Given the description of an element on the screen output the (x, y) to click on. 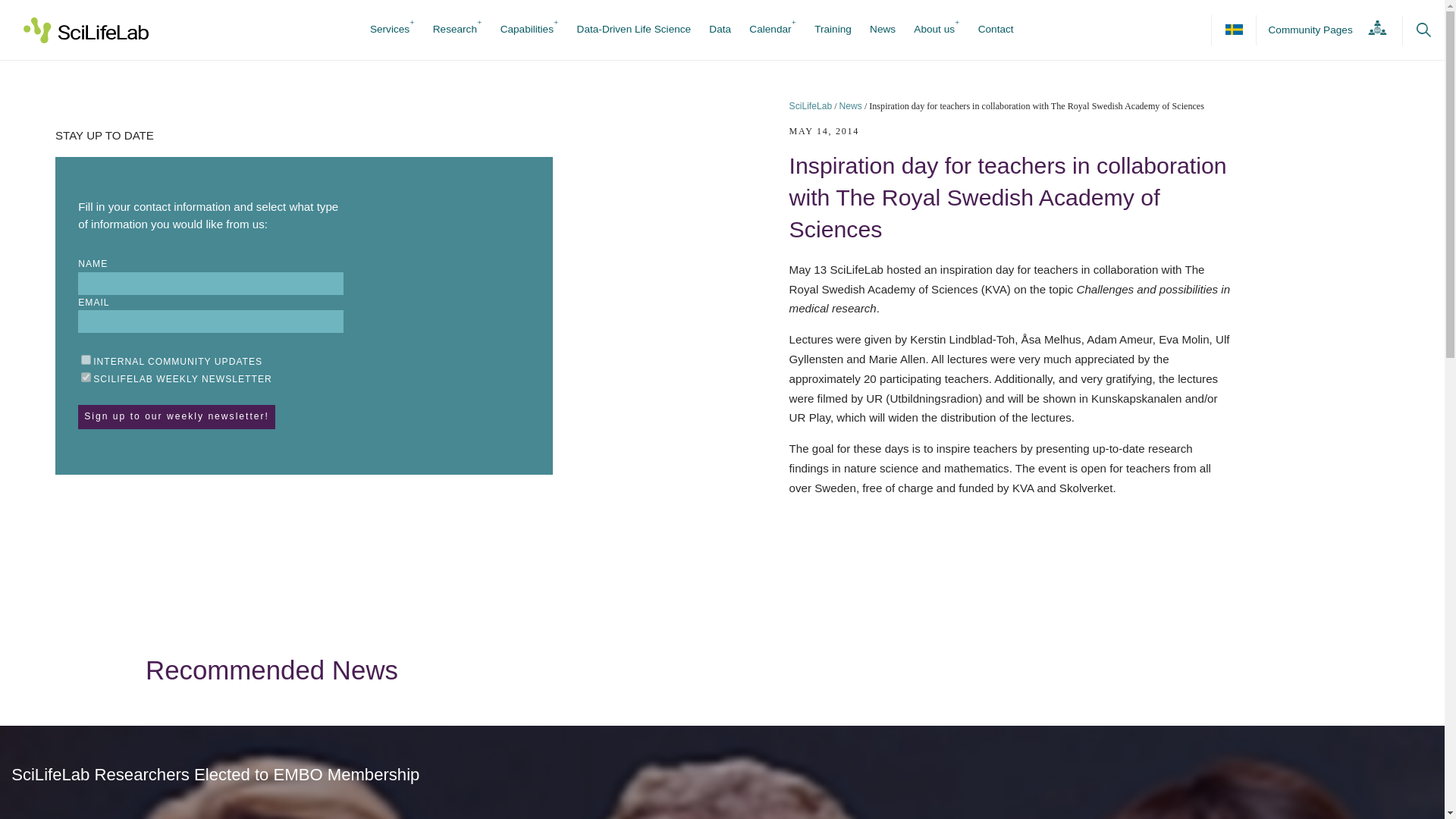
Services (389, 29)
Calendar (769, 29)
About us (934, 29)
News (882, 29)
SciLifeLab (810, 105)
Community Pages (1323, 30)
Research (454, 29)
Data-Driven Life Science (633, 29)
Sign up to our weekly newsletter! (176, 416)
Data (719, 29)
2605523 (85, 377)
Training (832, 29)
Sign up to our weekly newsletter! (176, 416)
Contact (995, 29)
2605548 (85, 359)
